Given the description of an element on the screen output the (x, y) to click on. 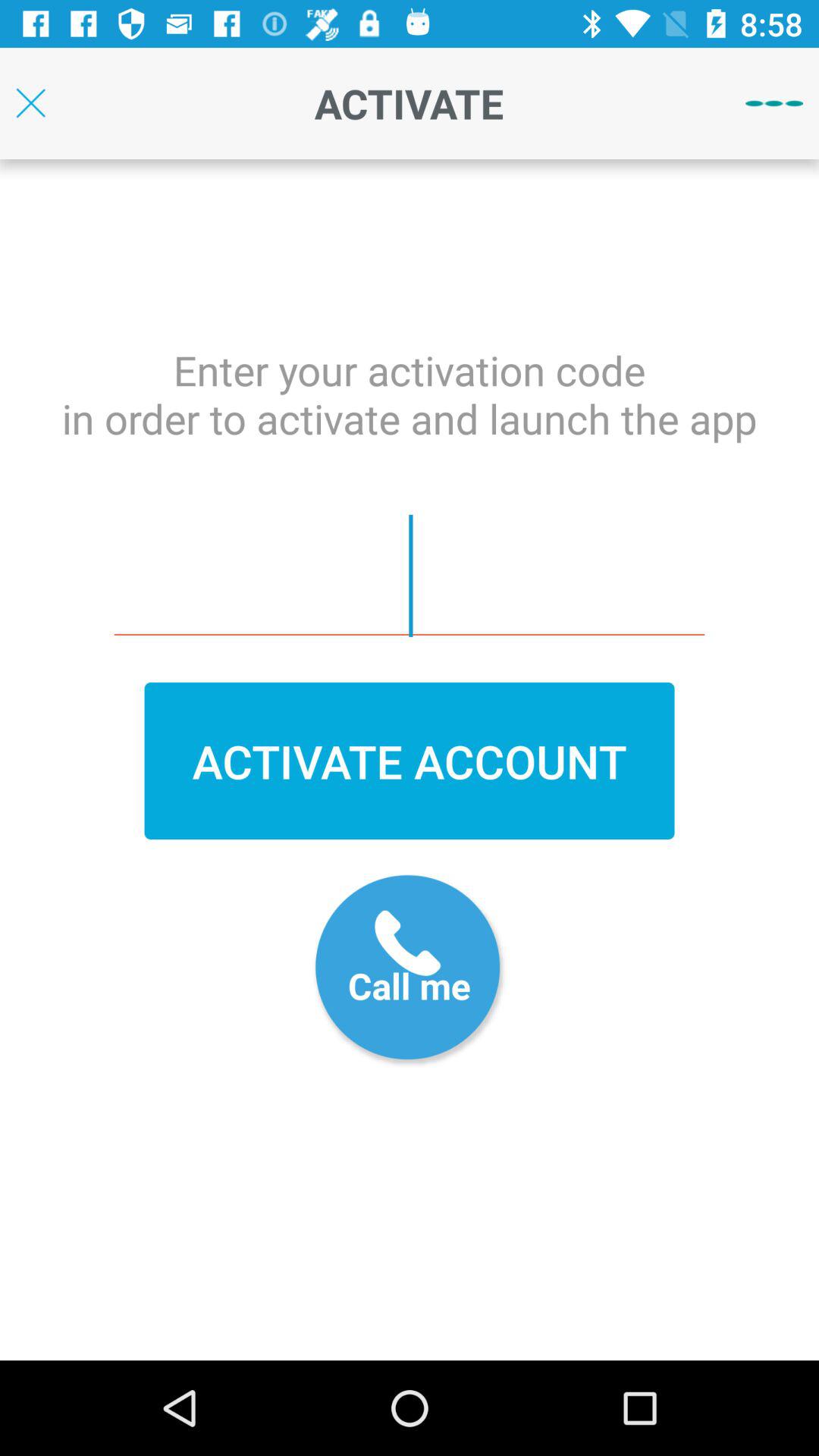
type in your activation code (409, 575)
